Given the description of an element on the screen output the (x, y) to click on. 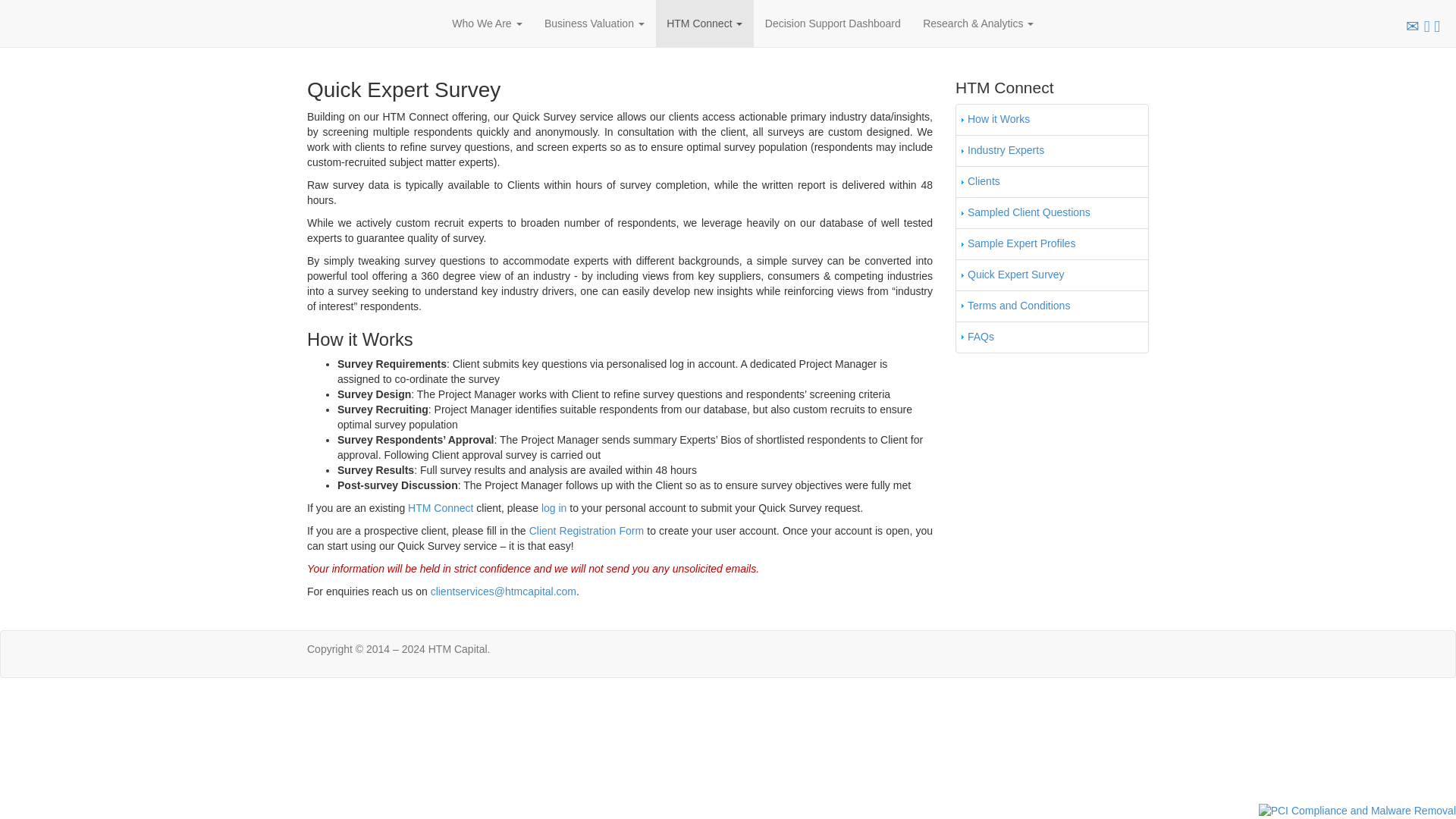
How it Works (998, 119)
Get in touch with us (1412, 25)
Client Registration Form (586, 530)
Decision Support Dashboard (832, 23)
log in (553, 508)
Industry Experts (1005, 150)
Who We Are (487, 23)
Sign into HTM Connect (1426, 25)
Business Valuation (593, 23)
HTM Connect (704, 23)
HTM Connect (440, 508)
Search (1436, 25)
